Given the description of an element on the screen output the (x, y) to click on. 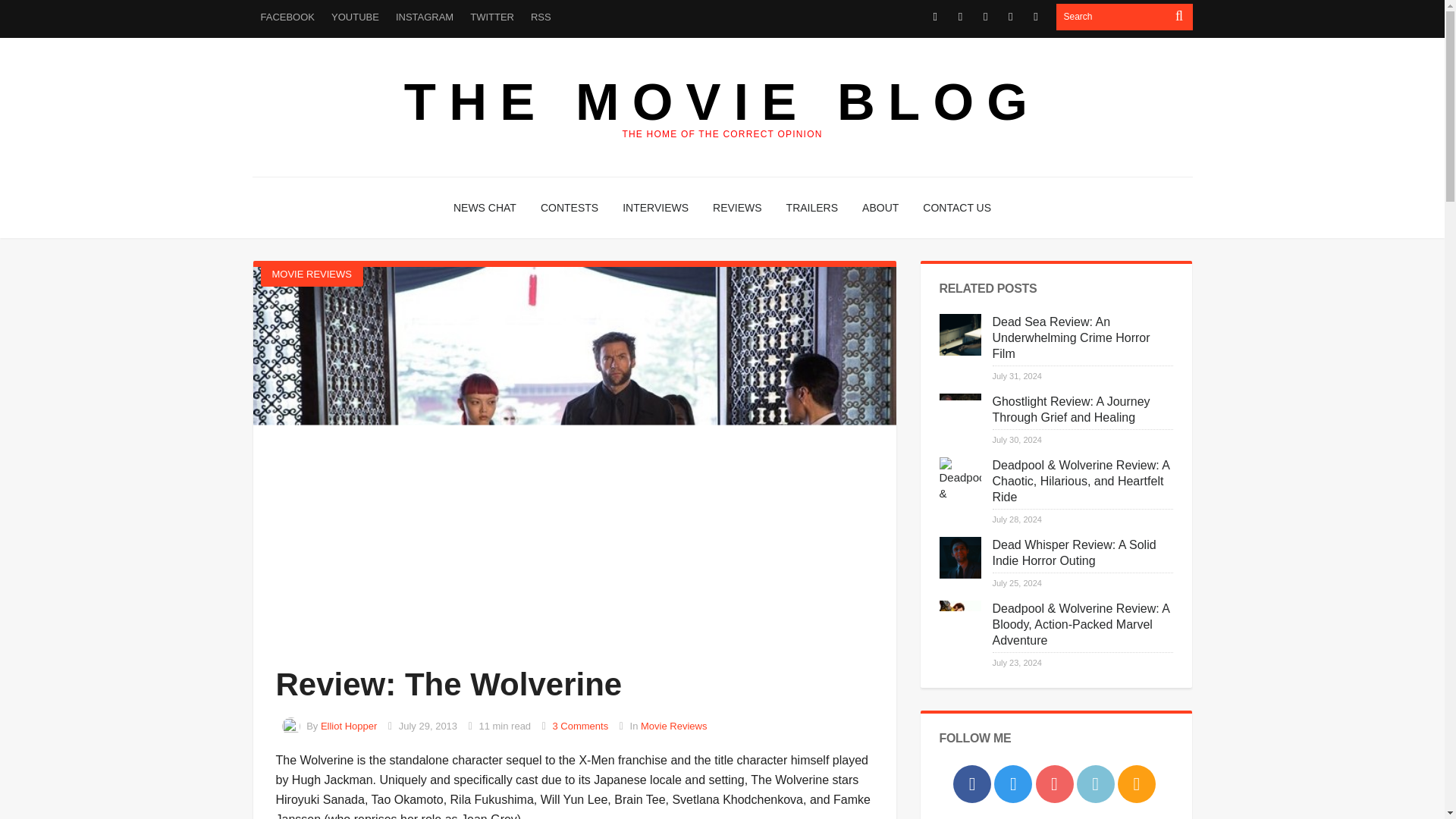
RSS (540, 17)
Reddit (1010, 16)
Rss (1035, 16)
YOUTUBE (355, 17)
THE MOVIE BLOG (722, 101)
INSTAGRAM (424, 17)
NEWS CHAT (484, 207)
TWITTER (491, 17)
Youtube (984, 16)
Search (1111, 17)
